Given the description of an element on the screen output the (x, y) to click on. 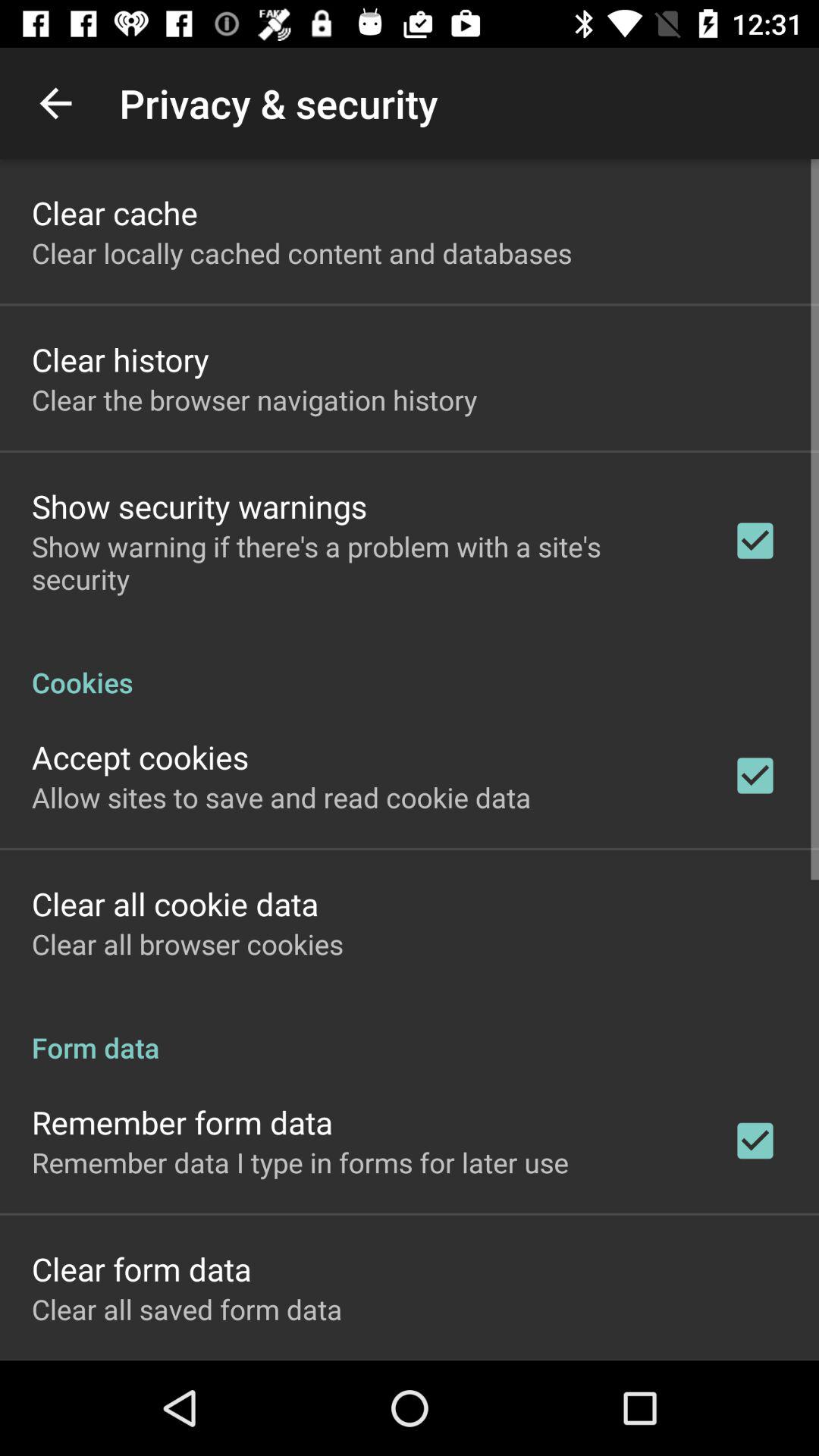
flip until the show warning if (361, 562)
